Given the description of an element on the screen output the (x, y) to click on. 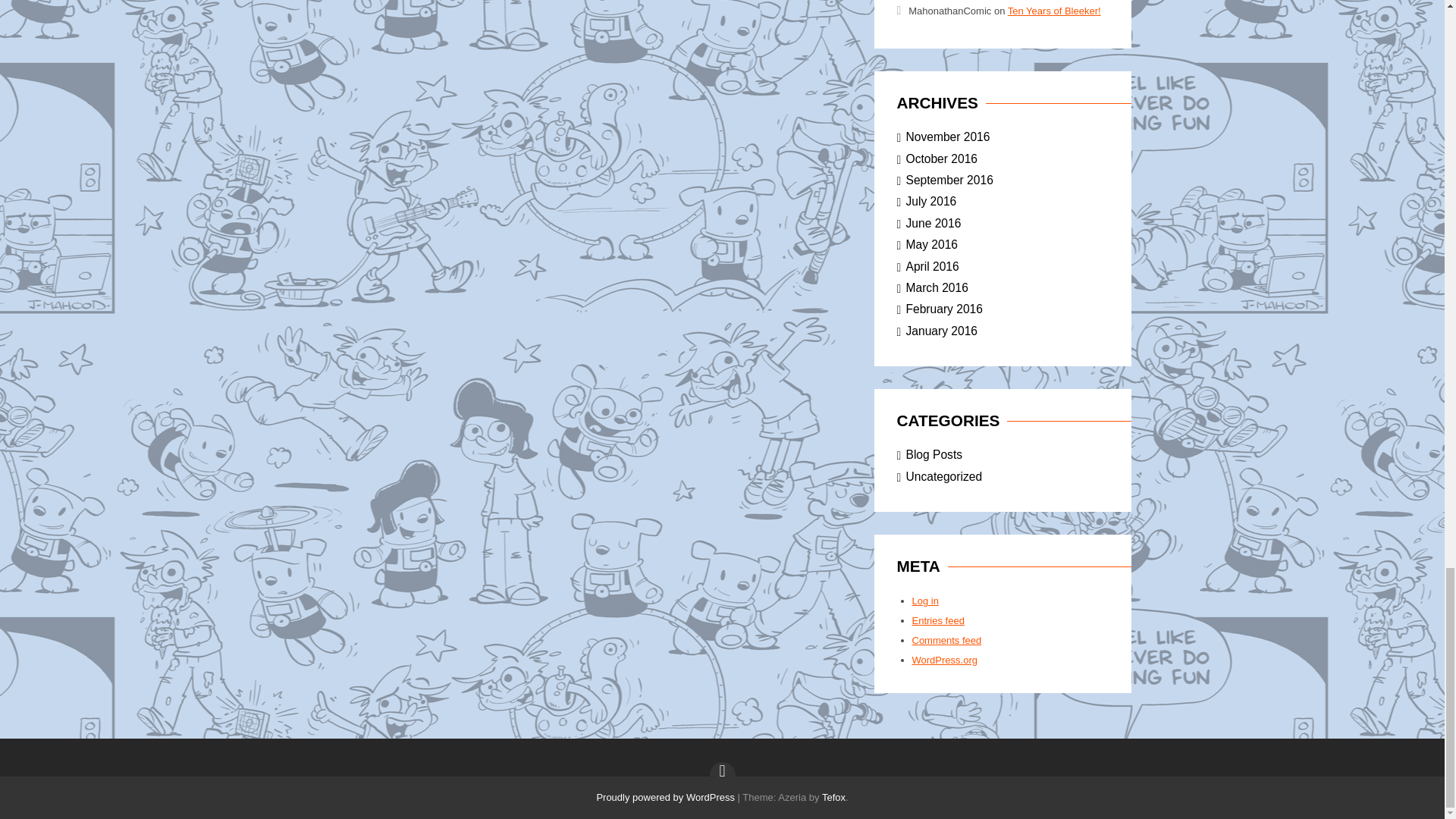
November 2016 (947, 136)
Ten Years of Bleeker! (1053, 10)
October 2016 (940, 158)
